Given the description of an element on the screen output the (x, y) to click on. 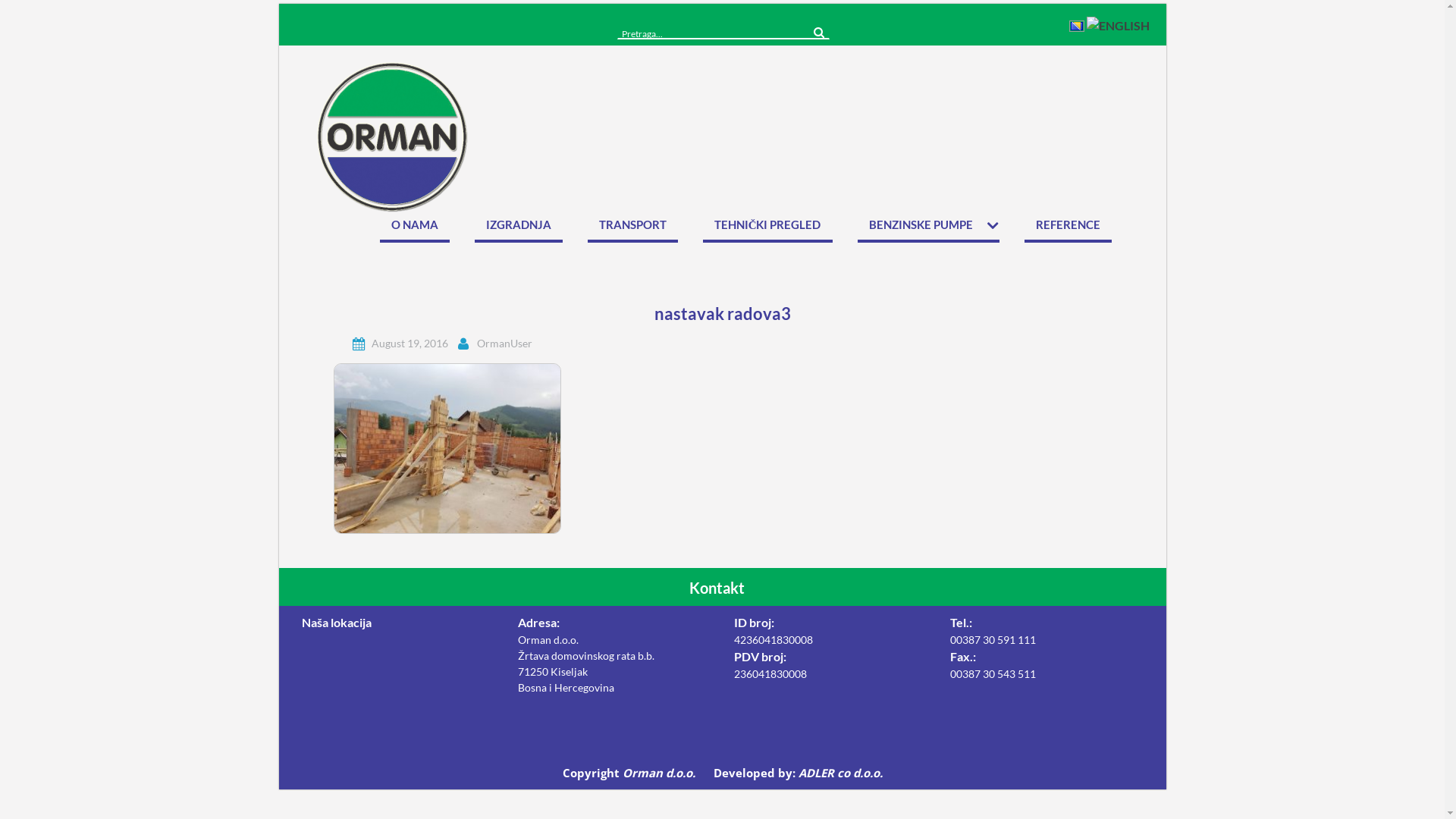
Skip to content Element type: text (289, 3)
REFERENCE Element type: text (1066, 228)
ADLER co d.o.o. Element type: text (839, 772)
IZGRADNJA Element type: text (518, 228)
Kontakt Element type: text (721, 587)
en_US Element type: text (1117, 22)
bs_BA Element type: text (1075, 22)
English Element type: hover (1117, 22)
BENZINSKE PUMPE Element type: text (927, 228)
Orman d.o.o. Element type: text (659, 772)
August 19, 2016 Element type: text (409, 342)
OrmanUser Element type: text (504, 342)
O NAMA Element type: text (414, 228)
Bosanski Element type: hover (1075, 22)
TRANSPORT Element type: text (632, 228)
